Given the description of an element on the screen output the (x, y) to click on. 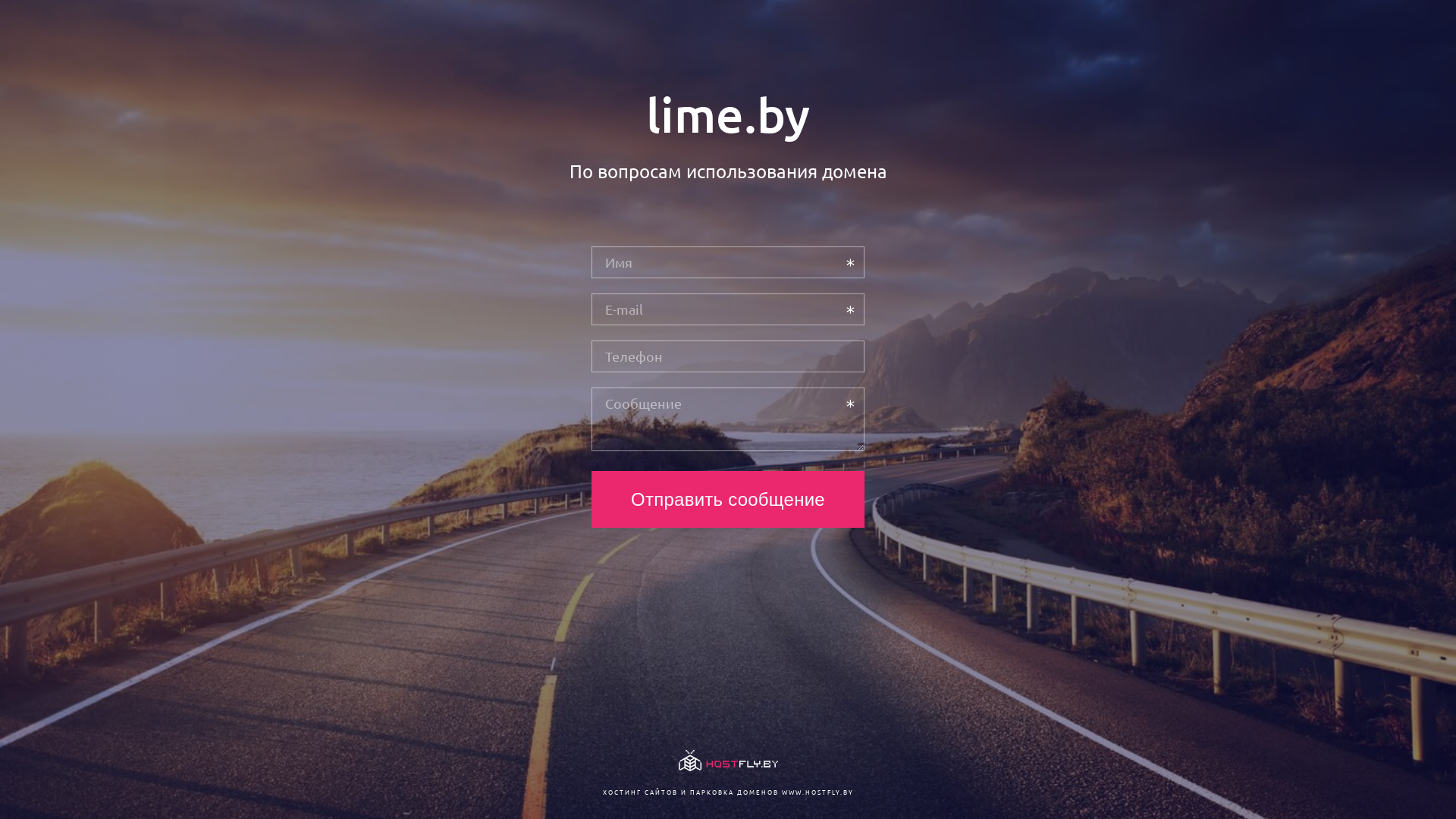
WWW.HOSTFLY.BY Element type: text (817, 791)
